Given the description of an element on the screen output the (x, y) to click on. 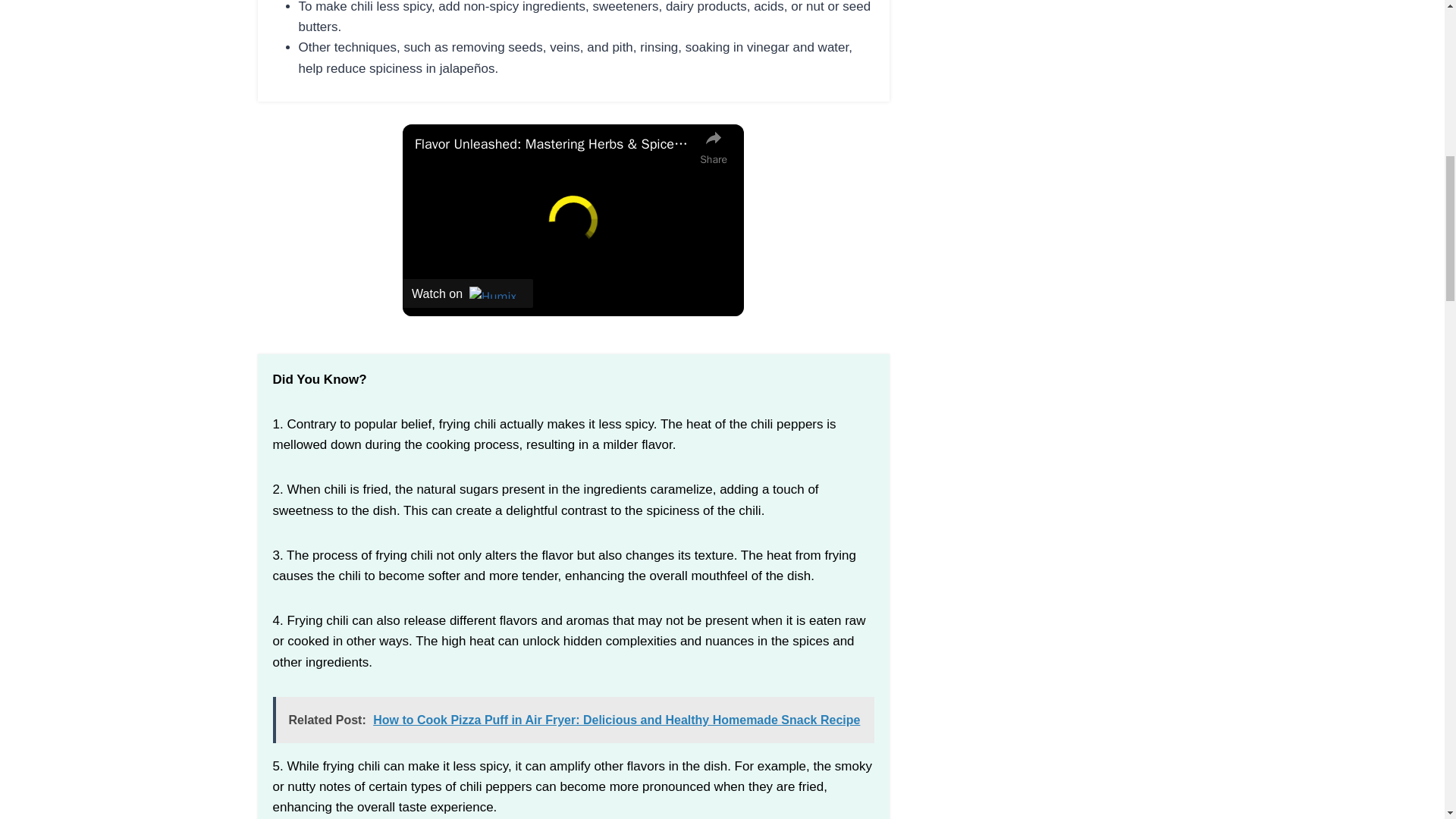
Watch on (467, 293)
